Given the description of an element on the screen output the (x, y) to click on. 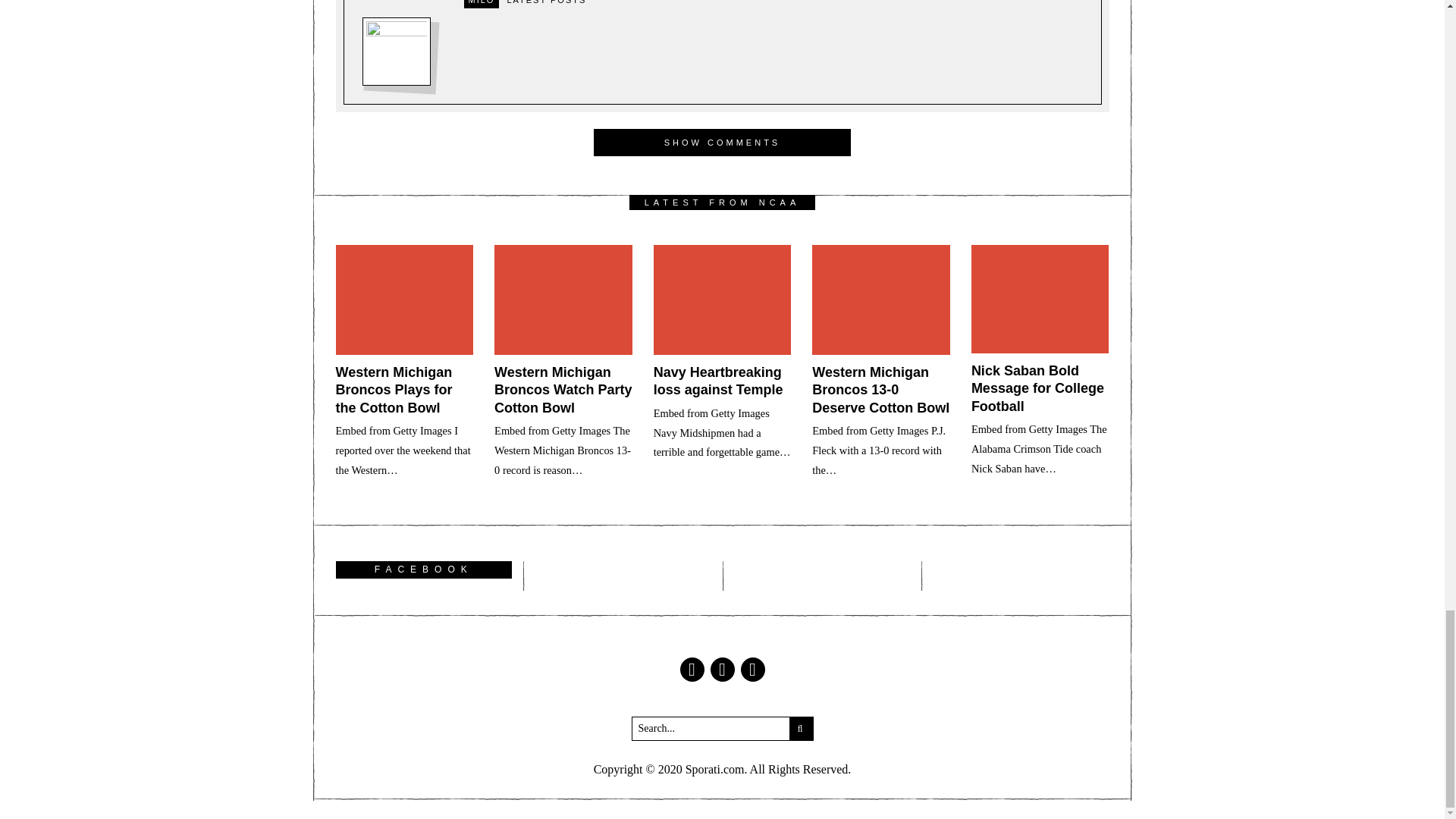
Twitter (721, 669)
Pinterest (751, 669)
Facebook (691, 669)
